Given the description of an element on the screen output the (x, y) to click on. 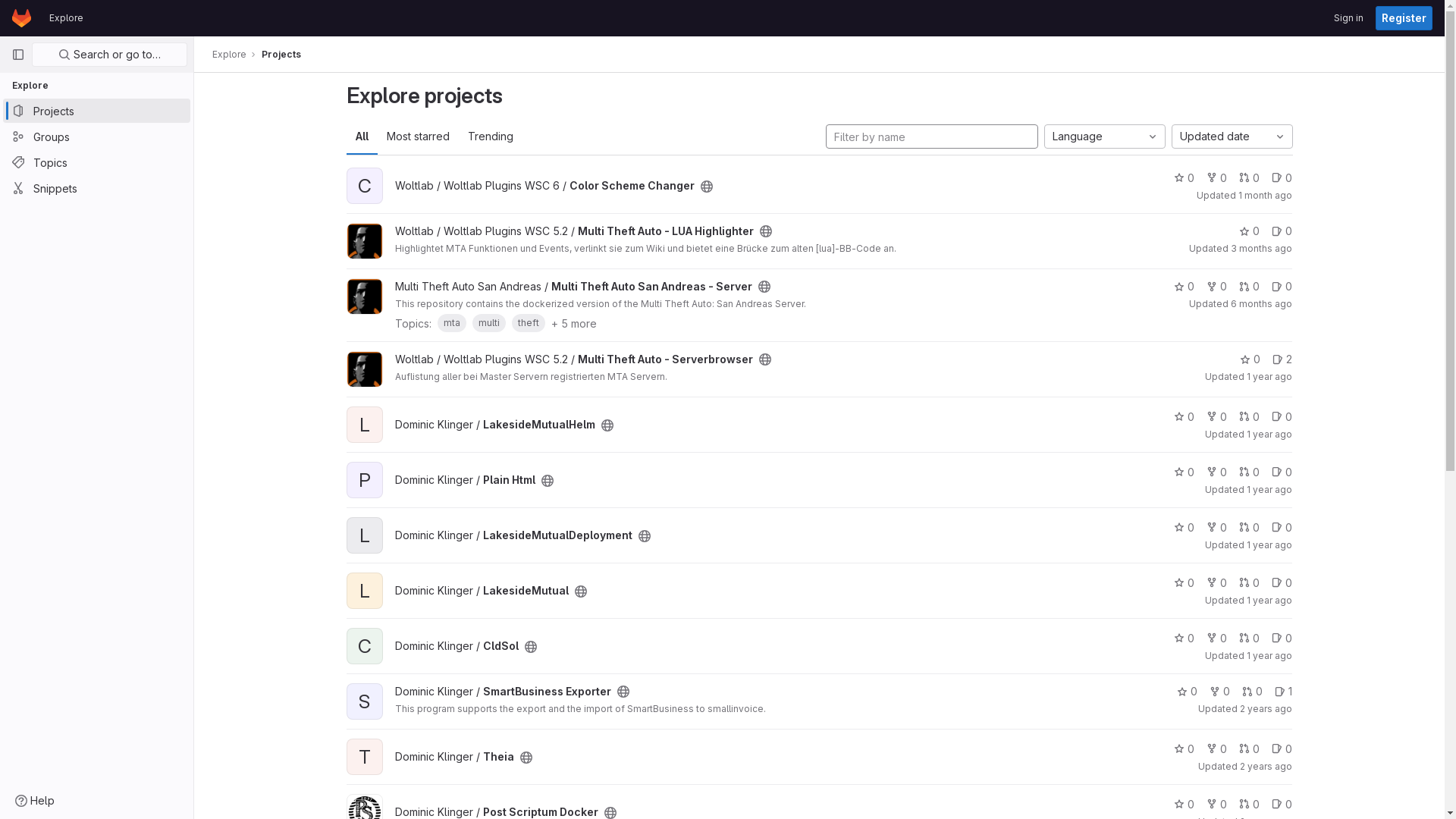
0 Element type: text (1249, 286)
Skip to content Element type: text (11, 18)
0 Element type: text (1249, 804)
1 Element type: text (1283, 691)
Language Element type: text (1103, 136)
0 Element type: text (1249, 527)
theft Element type: text (527, 322)
C Element type: text (369, 175)
mta Element type: text (450, 322)
0 Element type: text (1281, 416)
0 Element type: text (1216, 638)
0 Element type: text (1249, 472)
Dominic Klinger / Post Scriptum Docker Element type: text (495, 811)
0 Element type: text (1216, 416)
Dominic Klinger / LakesideMutual Element type: text (480, 589)
0 Element type: text (1216, 804)
Dominic Klinger / LakesideMutualHelm Element type: text (494, 423)
0 Element type: text (1186, 691)
0 Element type: text (1281, 748)
Help Element type: text (34, 800)
0 Element type: text (1249, 416)
Trending Element type: text (489, 136)
0 Element type: text (1219, 691)
0 Element type: text (1183, 527)
Snippets Element type: text (96, 187)
0 Element type: text (1252, 691)
2 Element type: text (1282, 359)
Explore Element type: text (229, 54)
Sign in Element type: text (1348, 18)
0 Element type: text (1249, 177)
Woltlab / Woltlab Plugins WSC 6 / Color Scheme Changer Element type: text (543, 184)
0 Element type: text (1281, 286)
L Element type: text (369, 413)
0 Element type: text (1281, 177)
0 Element type: text (1216, 527)
0 Element type: text (1183, 582)
0 Element type: text (1183, 748)
Dominic Klinger / LakesideMutualDeployment Element type: text (512, 534)
0 Element type: text (1183, 638)
0 Element type: text (1216, 748)
L Element type: text (369, 524)
C Element type: text (369, 635)
Dominic Klinger / SmartBusiness Exporter Element type: text (502, 690)
Projects Element type: text (281, 54)
0 Element type: text (1183, 472)
Dominic Klinger / CldSol Element type: text (455, 645)
Register Element type: text (1403, 18)
0 Element type: text (1281, 582)
Groups Element type: text (96, 136)
0 Element type: text (1183, 177)
Homepage Element type: hover (21, 18)
All Element type: text (360, 136)
0 Element type: text (1281, 527)
0 Element type: text (1281, 638)
S Element type: text (369, 690)
0 Element type: text (1183, 804)
0 Element type: text (1281, 804)
0 Element type: text (1216, 472)
multi Element type: text (488, 322)
0 Element type: text (1183, 416)
L Element type: text (369, 580)
0 Element type: text (1249, 748)
0 Element type: text (1281, 472)
0 Element type: text (1216, 177)
0 Element type: text (1249, 582)
0 Element type: text (1216, 286)
Topics Element type: text (96, 162)
P Element type: text (369, 469)
0 Element type: text (1281, 230)
Dominic Klinger / Plain Html Element type: text (464, 479)
0 Element type: text (1249, 638)
0 Element type: text (1249, 230)
0 Element type: text (1249, 359)
0 Element type: text (1183, 286)
Explore Element type: text (66, 18)
Most starred Element type: text (417, 136)
0 Element type: text (1216, 582)
Projects Element type: text (96, 110)
Dominic Klinger / Theia Element type: text (453, 755)
T Element type: text (369, 746)
Updated date Element type: text (1231, 136)
